Given the description of an element on the screen output the (x, y) to click on. 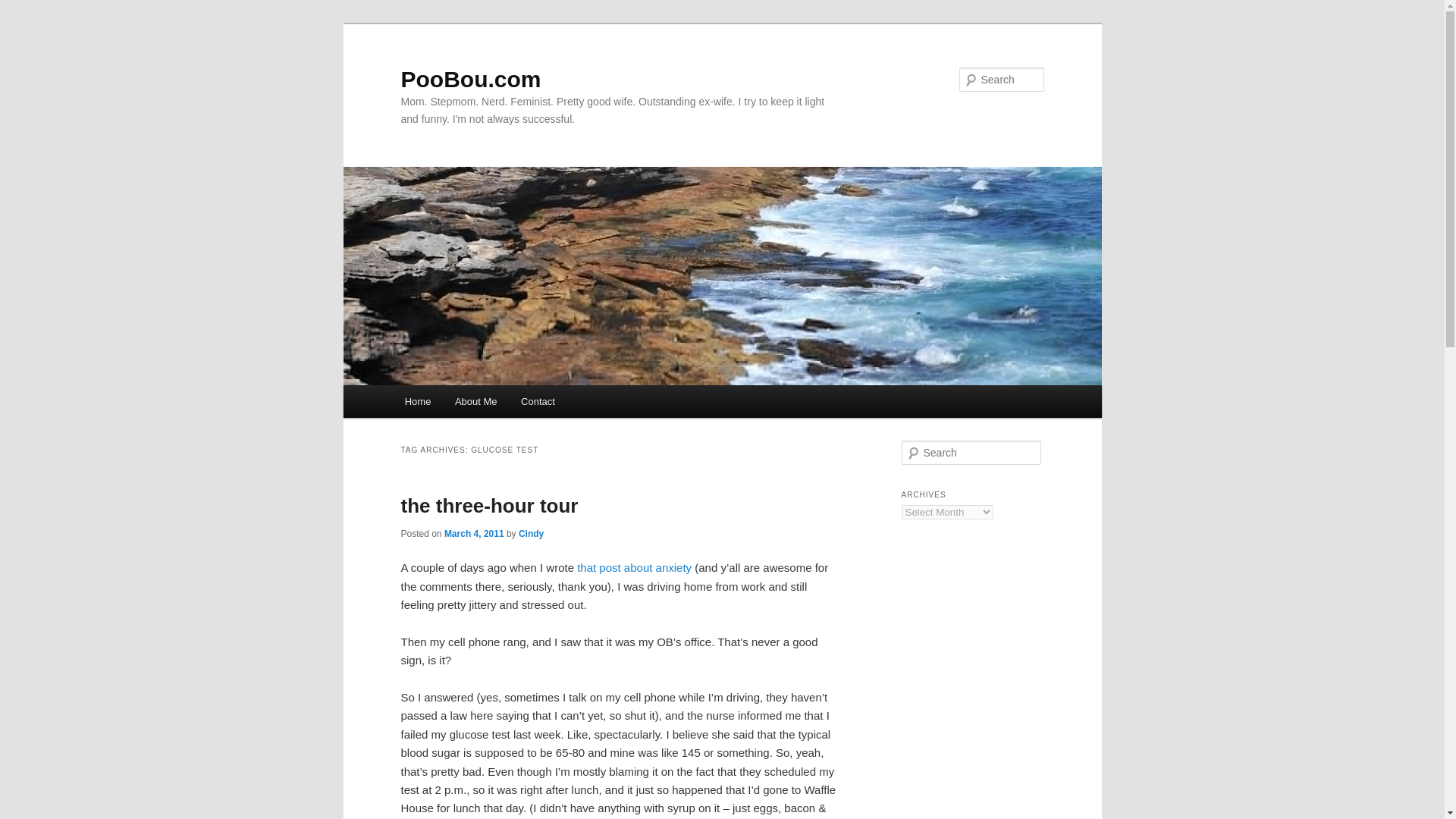
that post about anxiety (633, 567)
the three-hour tour (489, 505)
Cindy (530, 533)
PooBou.com (470, 78)
About Me (475, 400)
March 4, 2011 (473, 533)
12:16 pm (473, 533)
View all posts by Cindy (530, 533)
Contact (537, 400)
Home (417, 400)
